Given the description of an element on the screen output the (x, y) to click on. 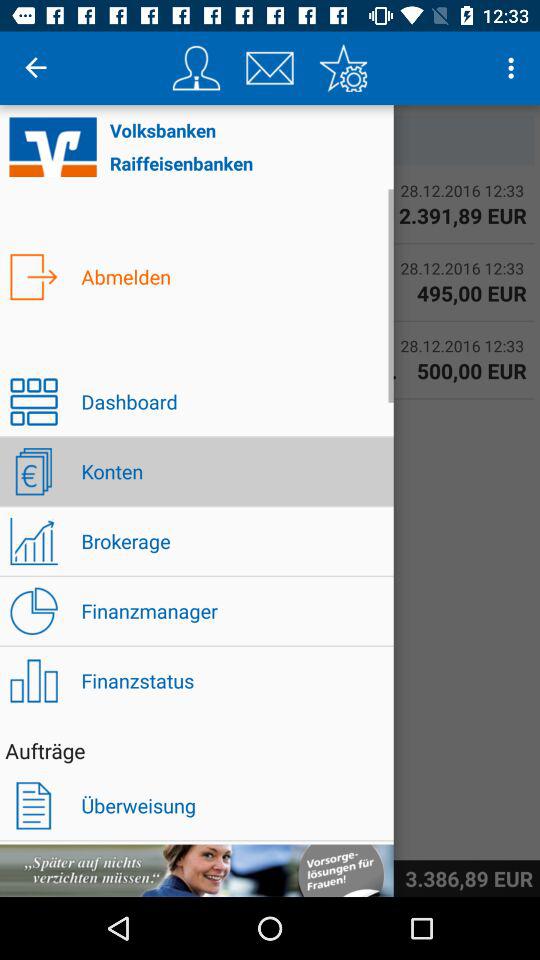
select the setting icon which is beside the message box (343, 68)
